Given the description of an element on the screen output the (x, y) to click on. 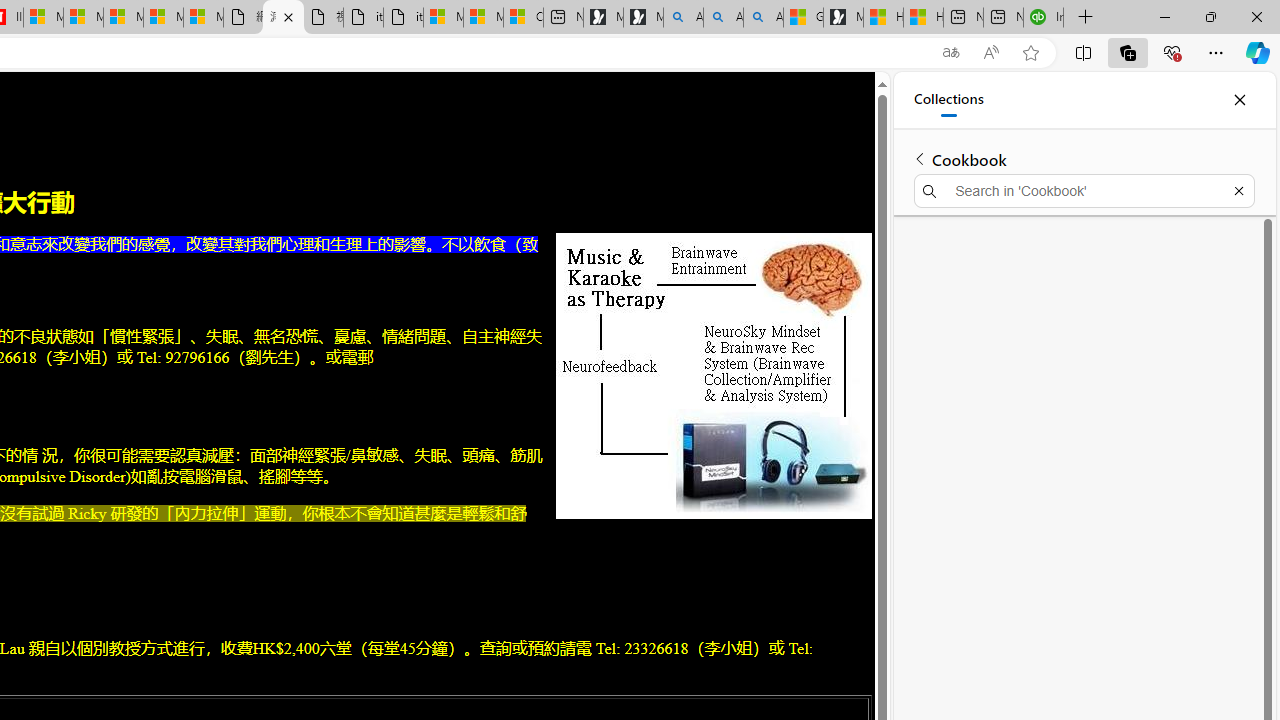
Search in 'Cookbook' (1084, 190)
Microsoft account | Privacy (483, 17)
Microsoft Start Gaming (843, 17)
Read aloud this page (Ctrl+Shift+U) (991, 53)
Restore (1210, 16)
New Tab (1085, 17)
How to Use a TV as a Computer Monitor (923, 17)
New tab (1003, 17)
Add this page to favorites (Ctrl+D) (1030, 53)
Browser essentials (1171, 52)
Exit search (1238, 190)
Intuit QuickBooks Online - Quickbooks (1043, 17)
Close (1239, 99)
